Given the description of an element on the screen output the (x, y) to click on. 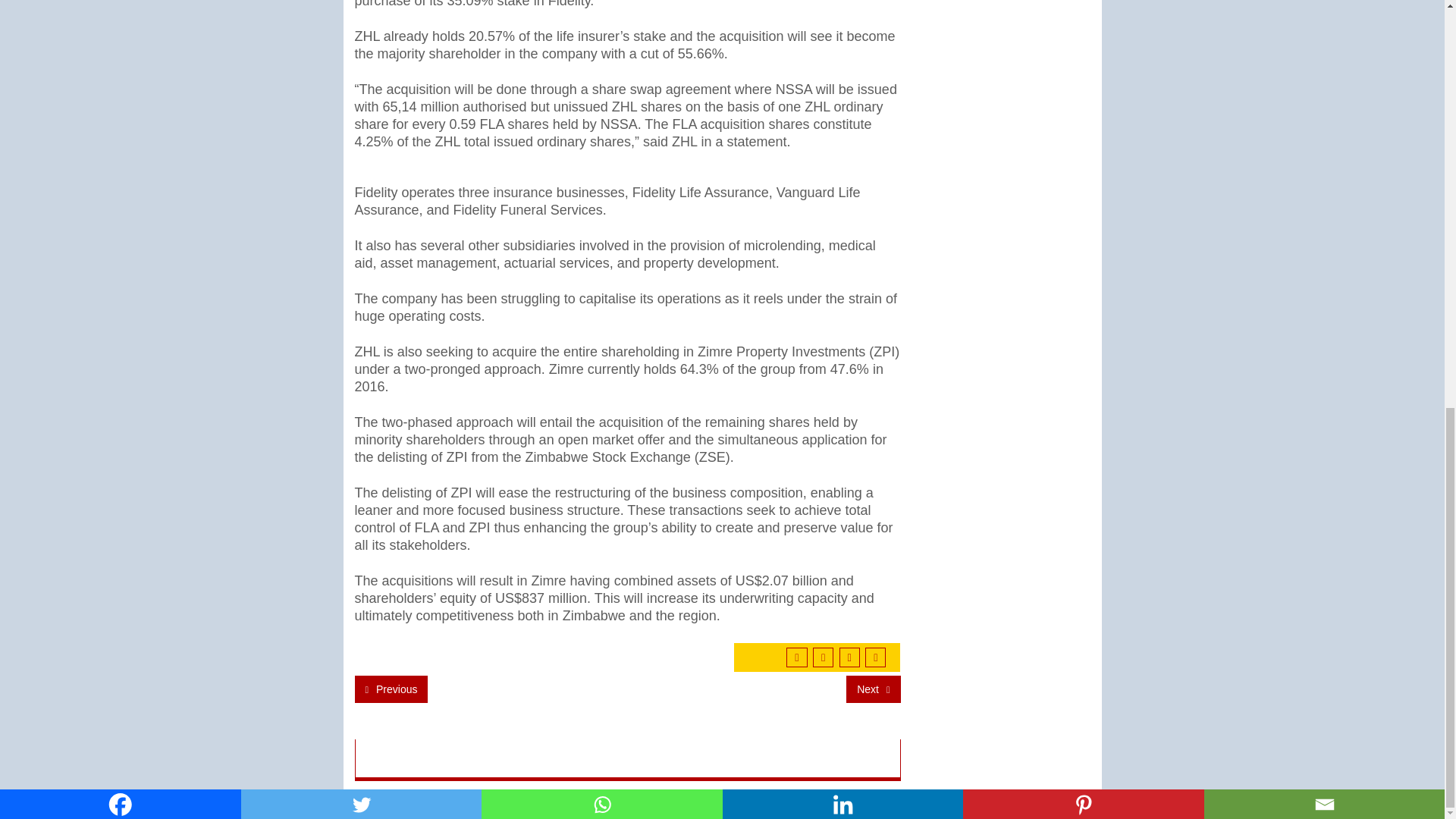
Whatsapp (601, 2)
Linkedin (842, 2)
Facebook (120, 2)
Twitter (361, 2)
Pinterest (1083, 2)
